Given the description of an element on the screen output the (x, y) to click on. 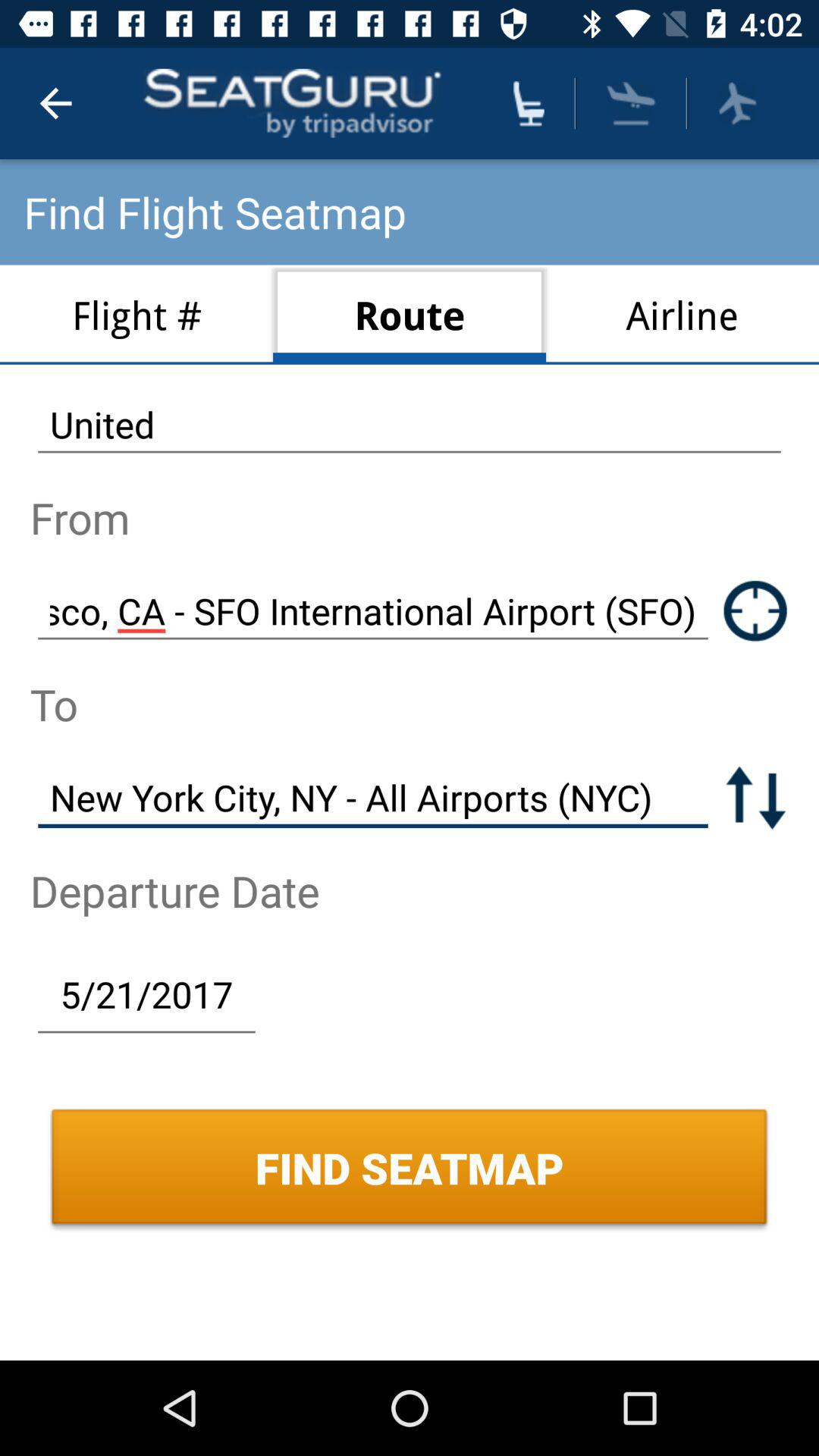
upward down ward option (755, 797)
